Given the description of an element on the screen output the (x, y) to click on. 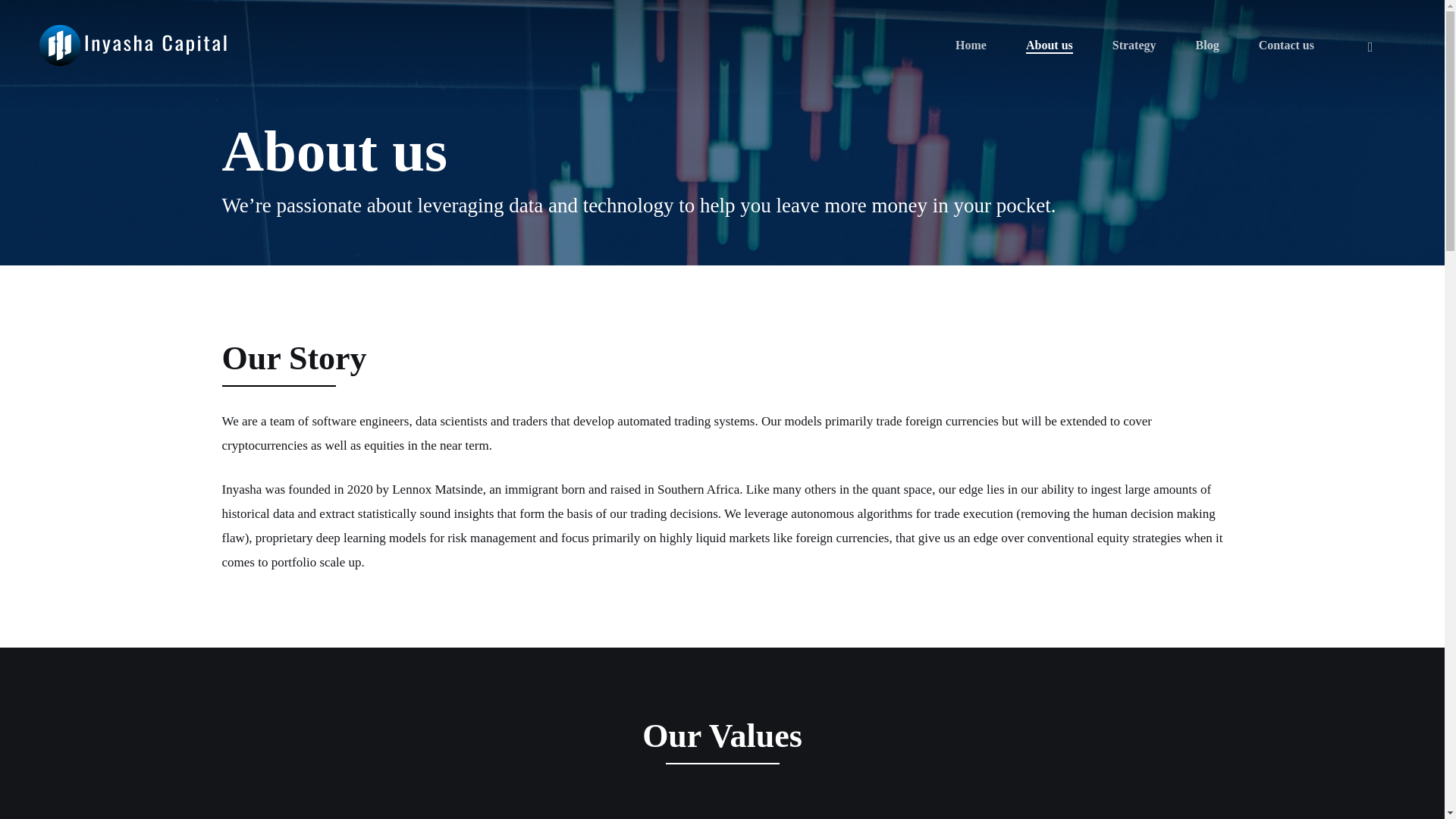
Blog (1207, 45)
About us (1049, 45)
Contact us (1286, 45)
Strategy (1134, 45)
Home (971, 45)
